Given the description of an element on the screen output the (x, y) to click on. 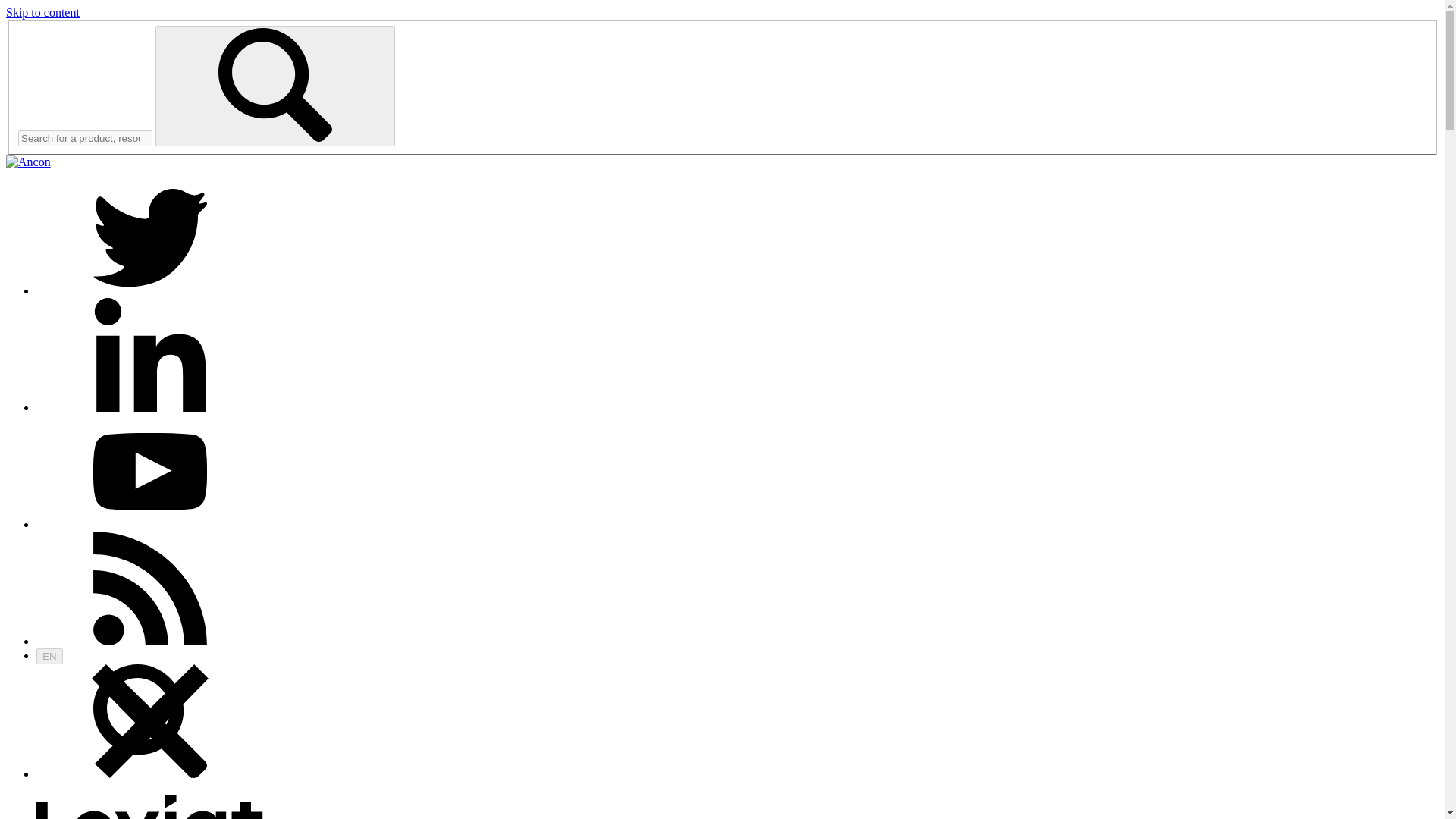
Skip to content (42, 11)
EN (49, 656)
